Given the description of an element on the screen output the (x, y) to click on. 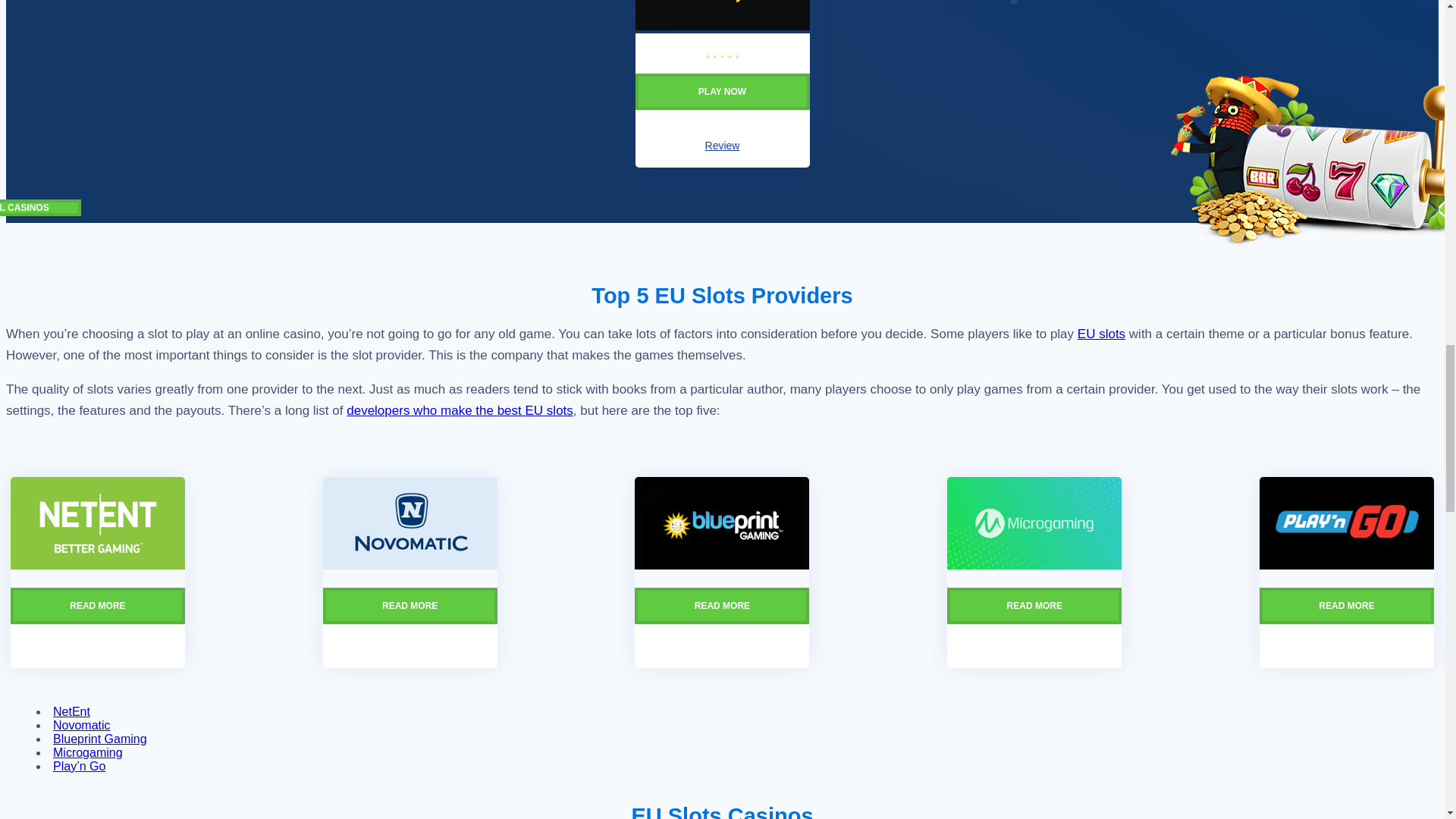
PLAY NOW (721, 105)
EU slots (1101, 333)
VIEW ALL CASINOS (40, 207)
developers who make the best EU slots (459, 410)
Review (721, 145)
